Given the description of an element on the screen output the (x, y) to click on. 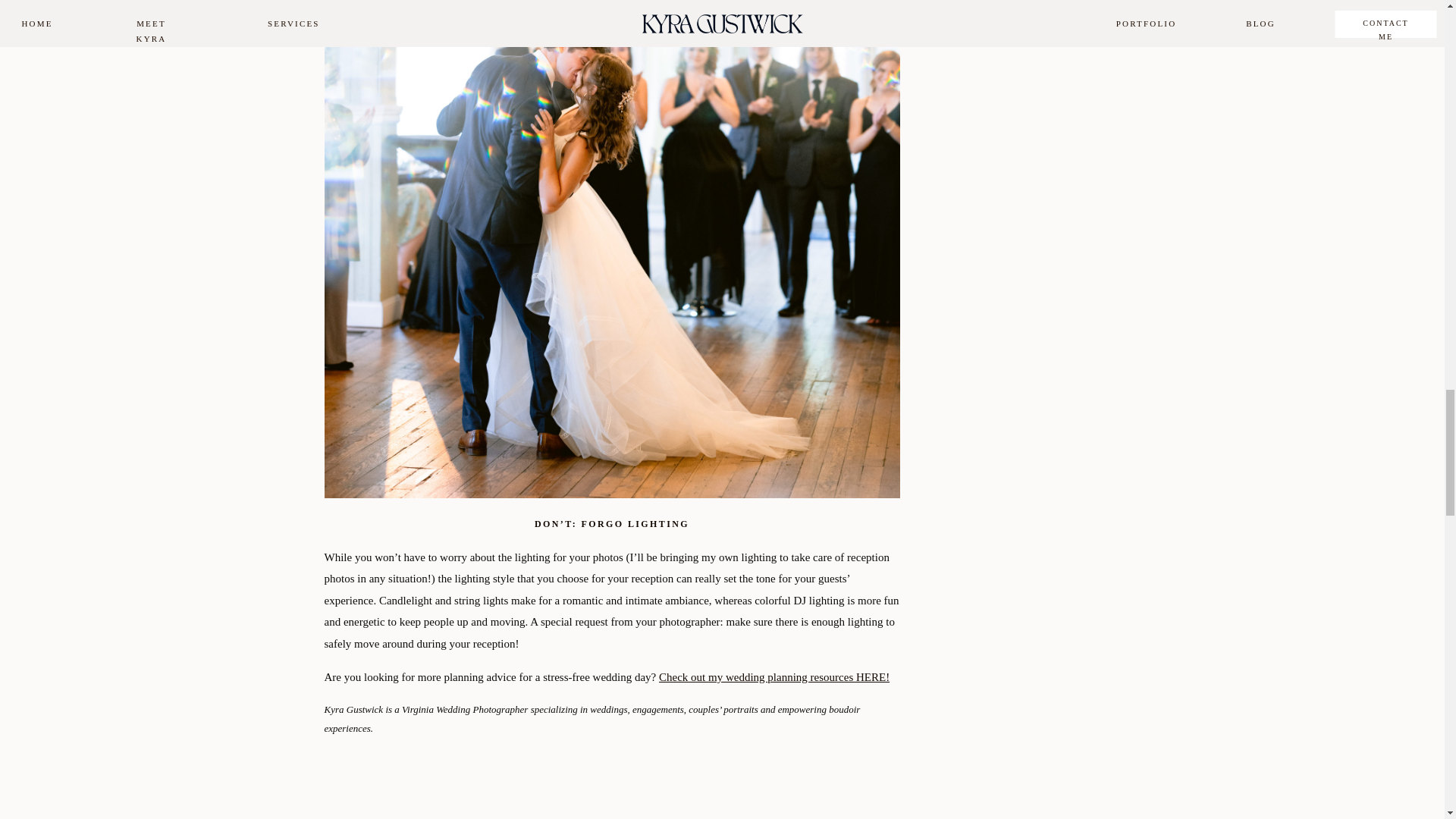
Check out my wedding planning resources HERE! (774, 676)
